Given the description of an element on the screen output the (x, y) to click on. 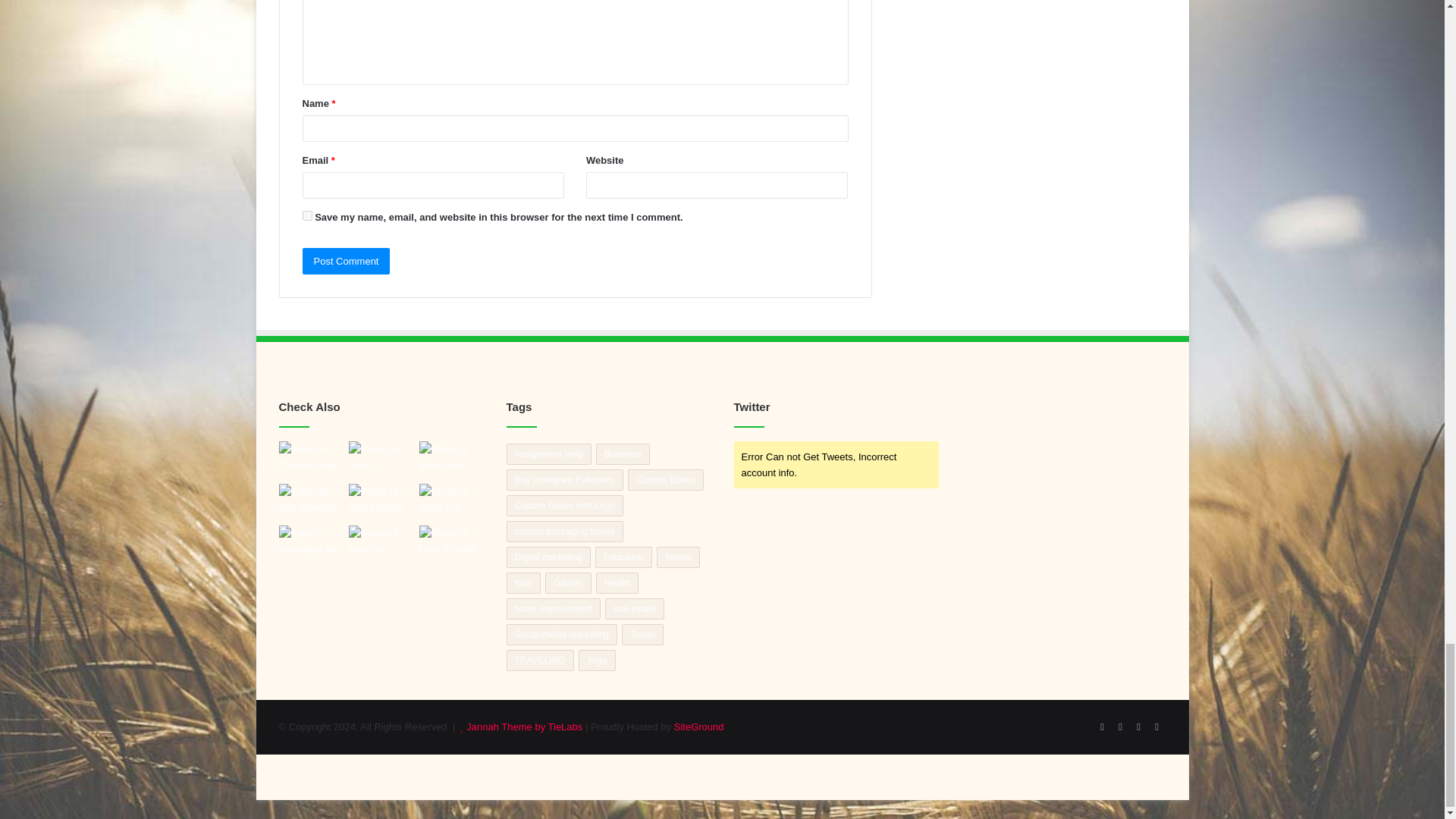
Post Comment (345, 261)
yes (306, 215)
